Given the description of an element on the screen output the (x, y) to click on. 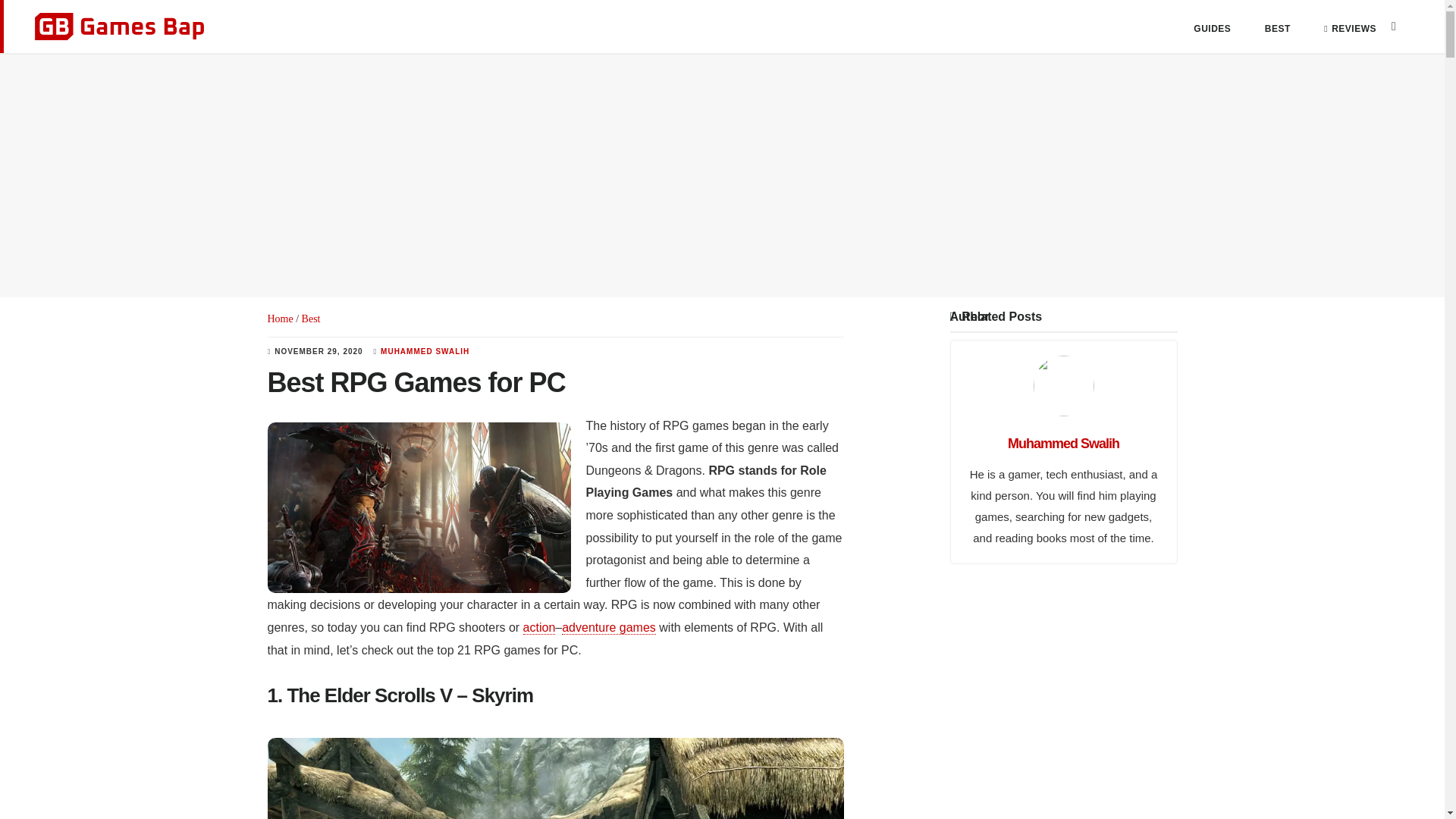
GUIDES (1212, 28)
Muhammed Swalih (1063, 443)
MUHAMMED SWALIH (424, 351)
REVIEWS (1350, 28)
Home (279, 318)
action (539, 627)
BEST (1277, 28)
adventure games (609, 627)
Best (310, 318)
GAMES BAP (119, 26)
